Given the description of an element on the screen output the (x, y) to click on. 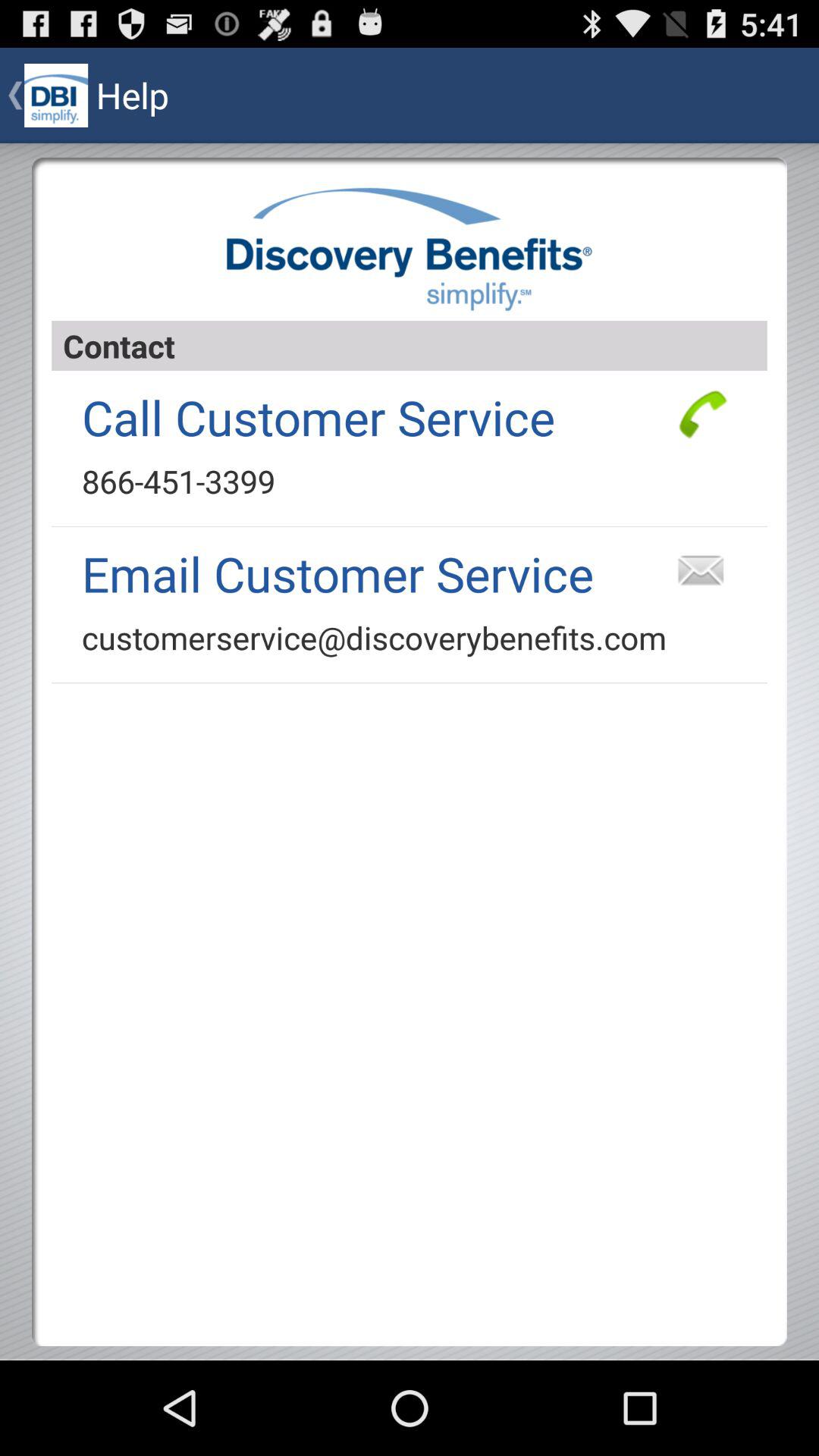
open icon above the call customer service (409, 345)
